Given the description of an element on the screen output the (x, y) to click on. 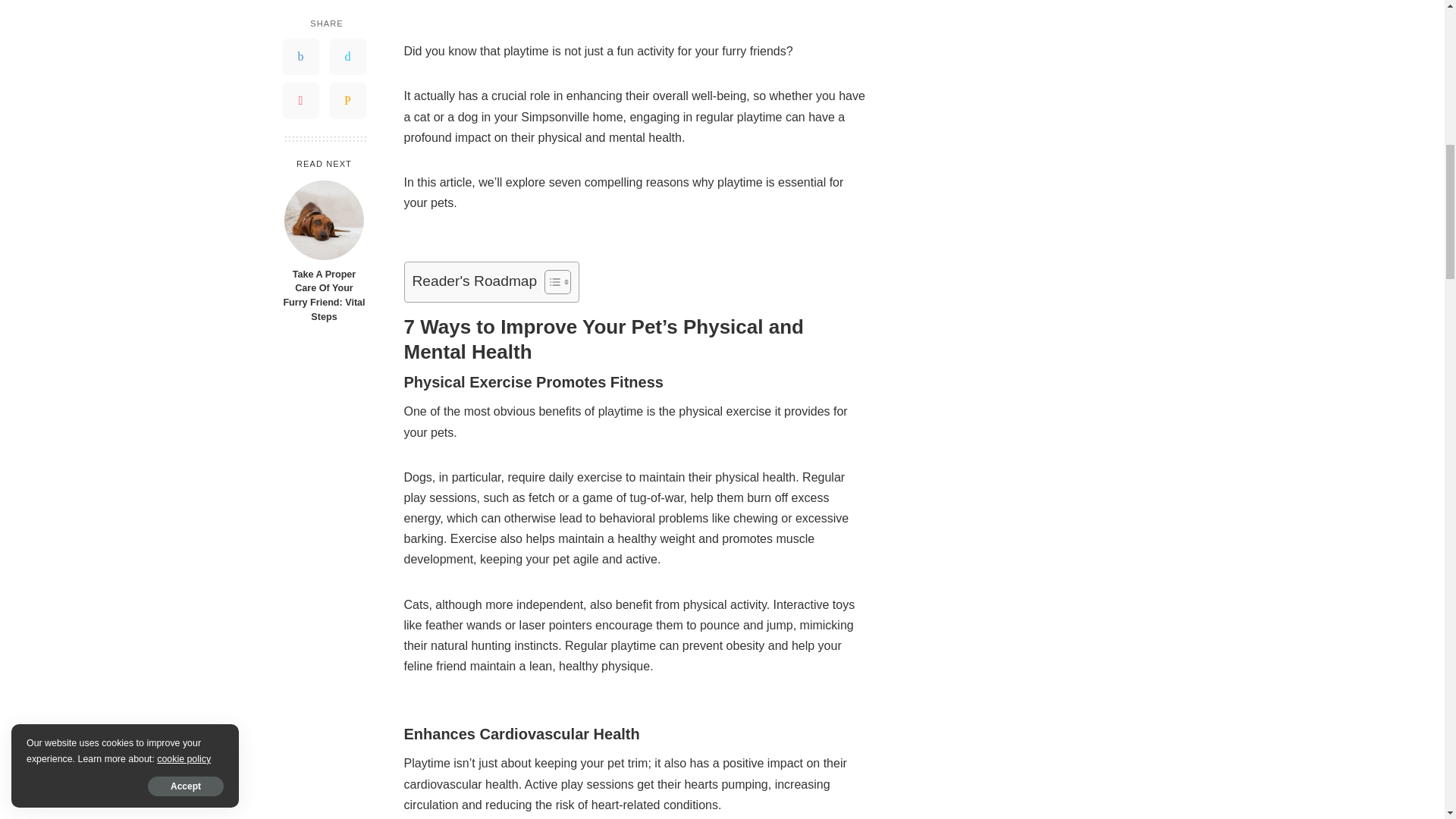
Pinterest (300, 100)
Email (347, 100)
Twitter (347, 56)
Facebook (300, 56)
Take A Proper Care Of Your Furry Friend: Vital Steps 3 (323, 220)
